Given the description of an element on the screen output the (x, y) to click on. 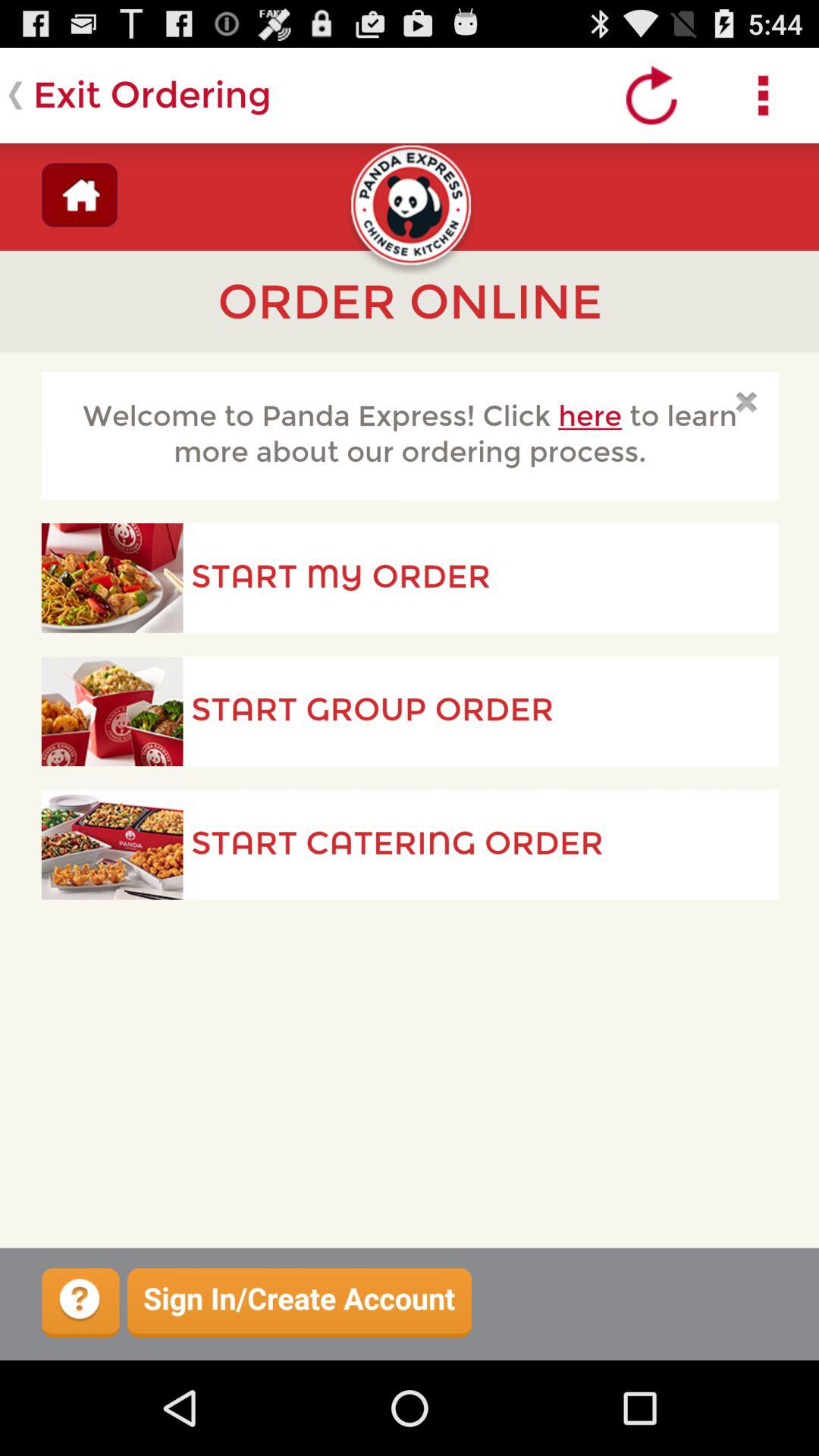
show more (763, 95)
